Given the description of an element on the screen output the (x, y) to click on. 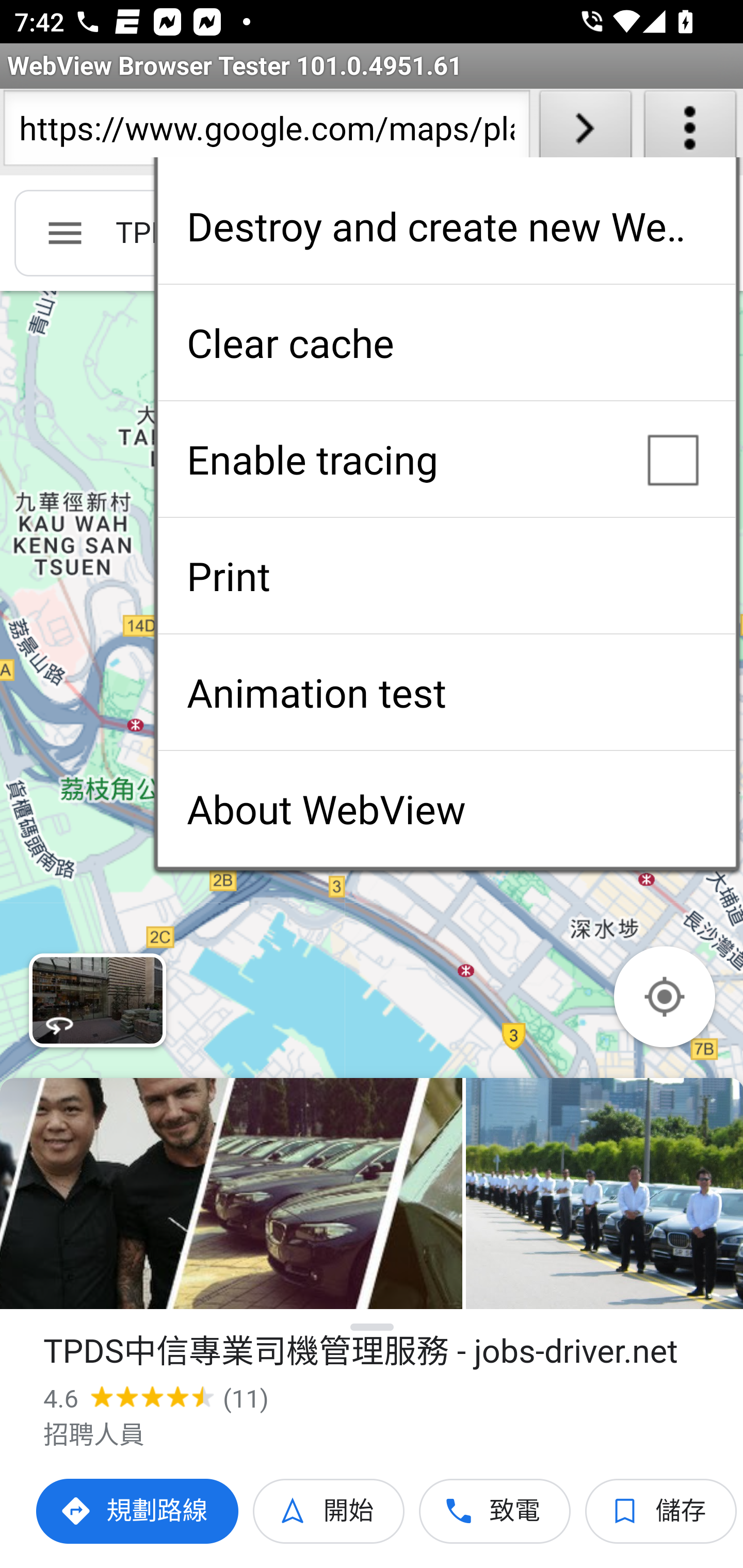
Destroy and create new WebView (446, 225)
Clear cache (446, 342)
Enable tracing (446, 459)
Print (446, 575)
Animation test (446, 692)
About WebView (446, 809)
